Given the description of an element on the screen output the (x, y) to click on. 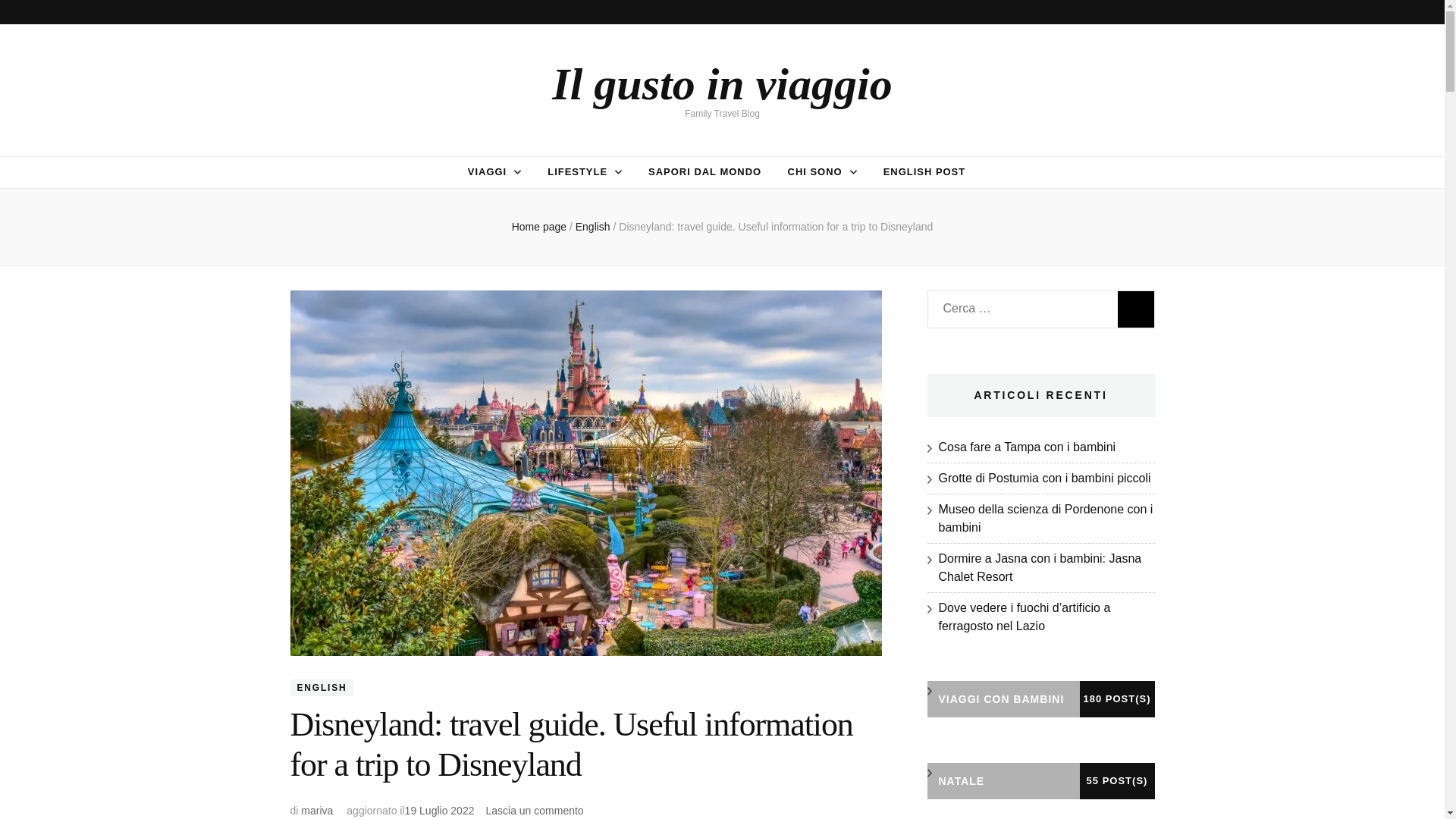
VIAGGI (486, 172)
Cerca (1136, 309)
Il gusto in viaggio (721, 83)
Cerca (1136, 309)
